Given the description of an element on the screen output the (x, y) to click on. 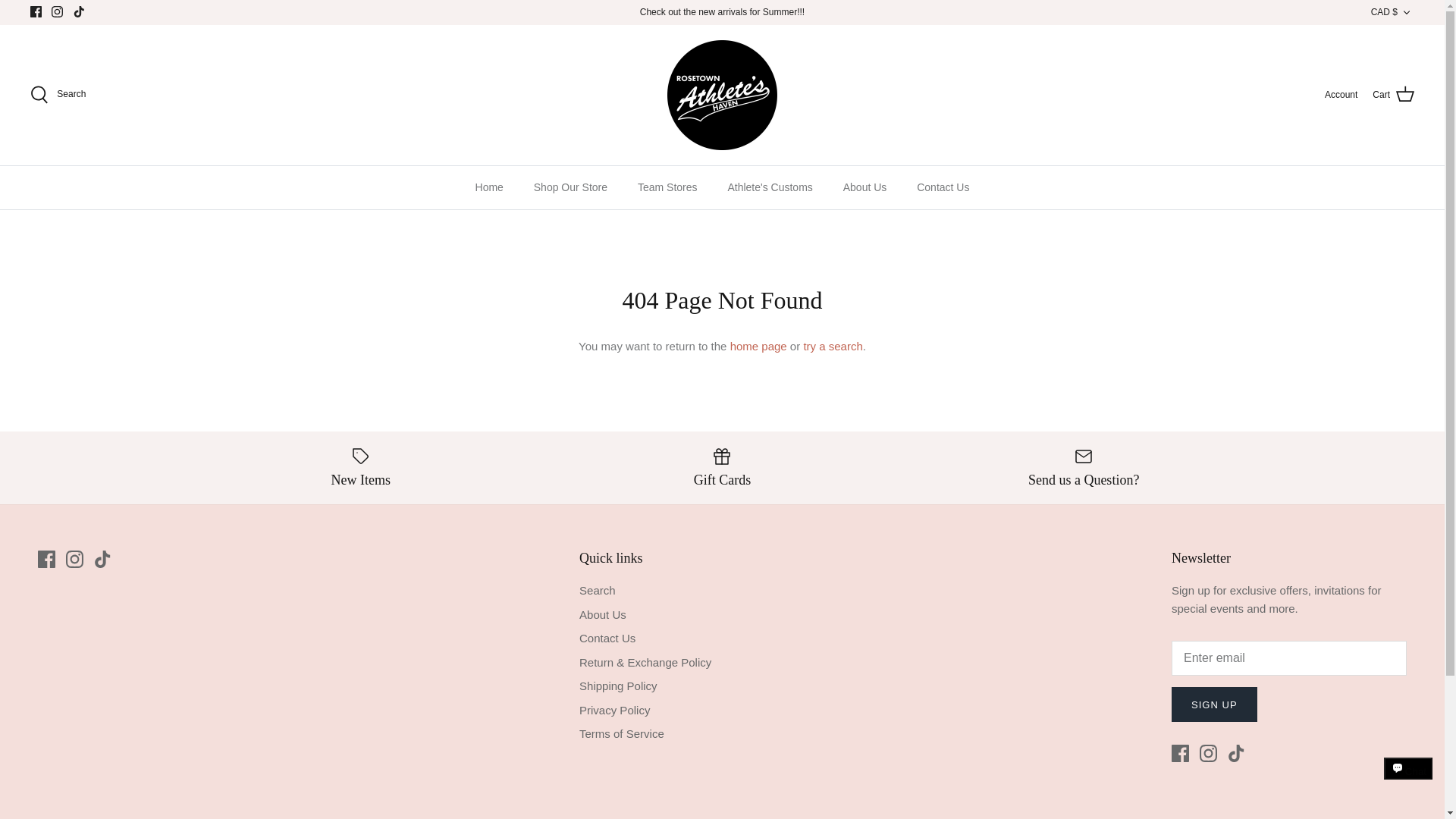
Instagram (1208, 753)
Label (360, 456)
Shopify online store chat (1408, 781)
Instagram (56, 11)
Facebook (46, 559)
Facebook (1180, 753)
Down (1406, 12)
Facebook (36, 11)
Instagram (56, 11)
Facebook (36, 11)
